Given the description of an element on the screen output the (x, y) to click on. 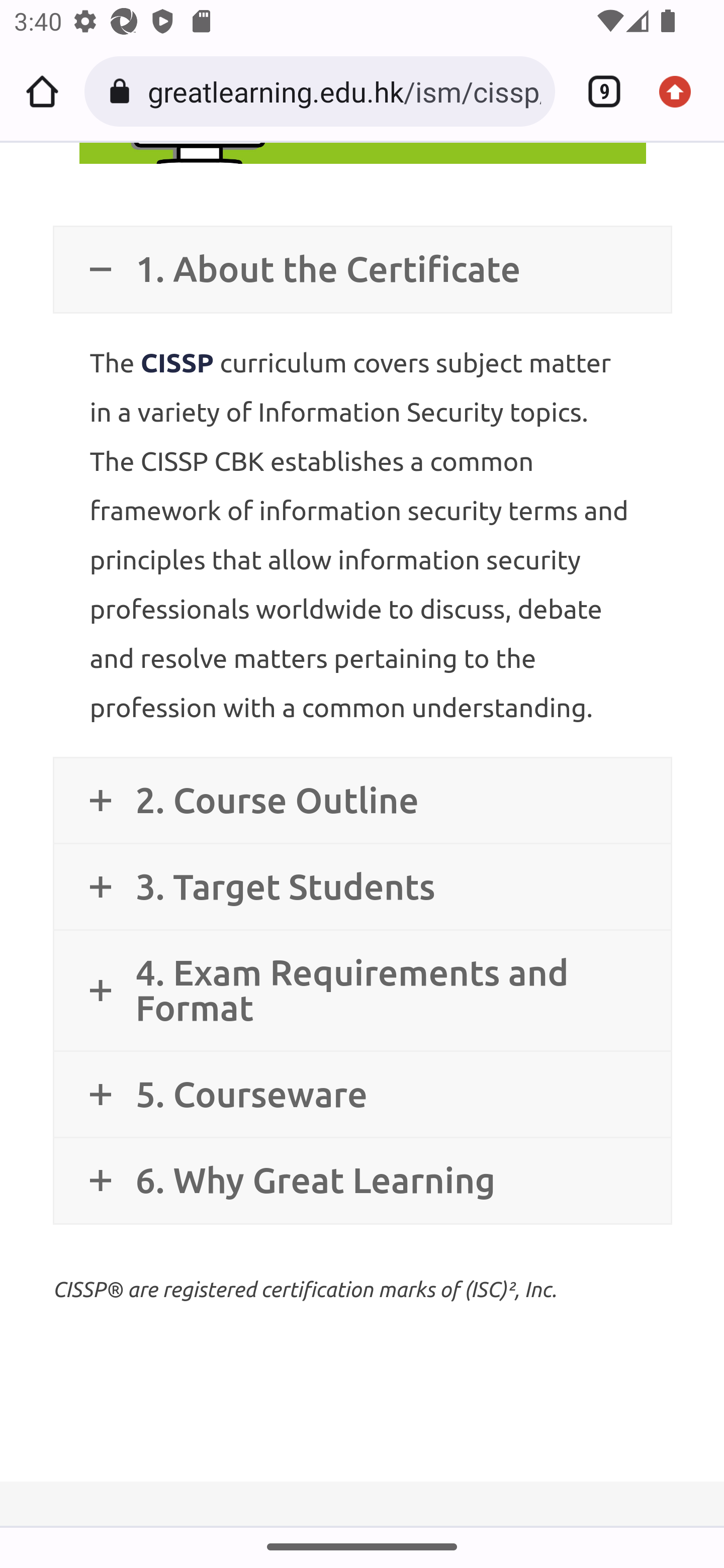
Home (42, 91)
Connection is secure (122, 91)
Switch or close tabs (597, 91)
Update available. More options (681, 91)
5. Courseware 5. Courseware 5. Courseware (361, 1095)
